Given the description of an element on the screen output the (x, y) to click on. 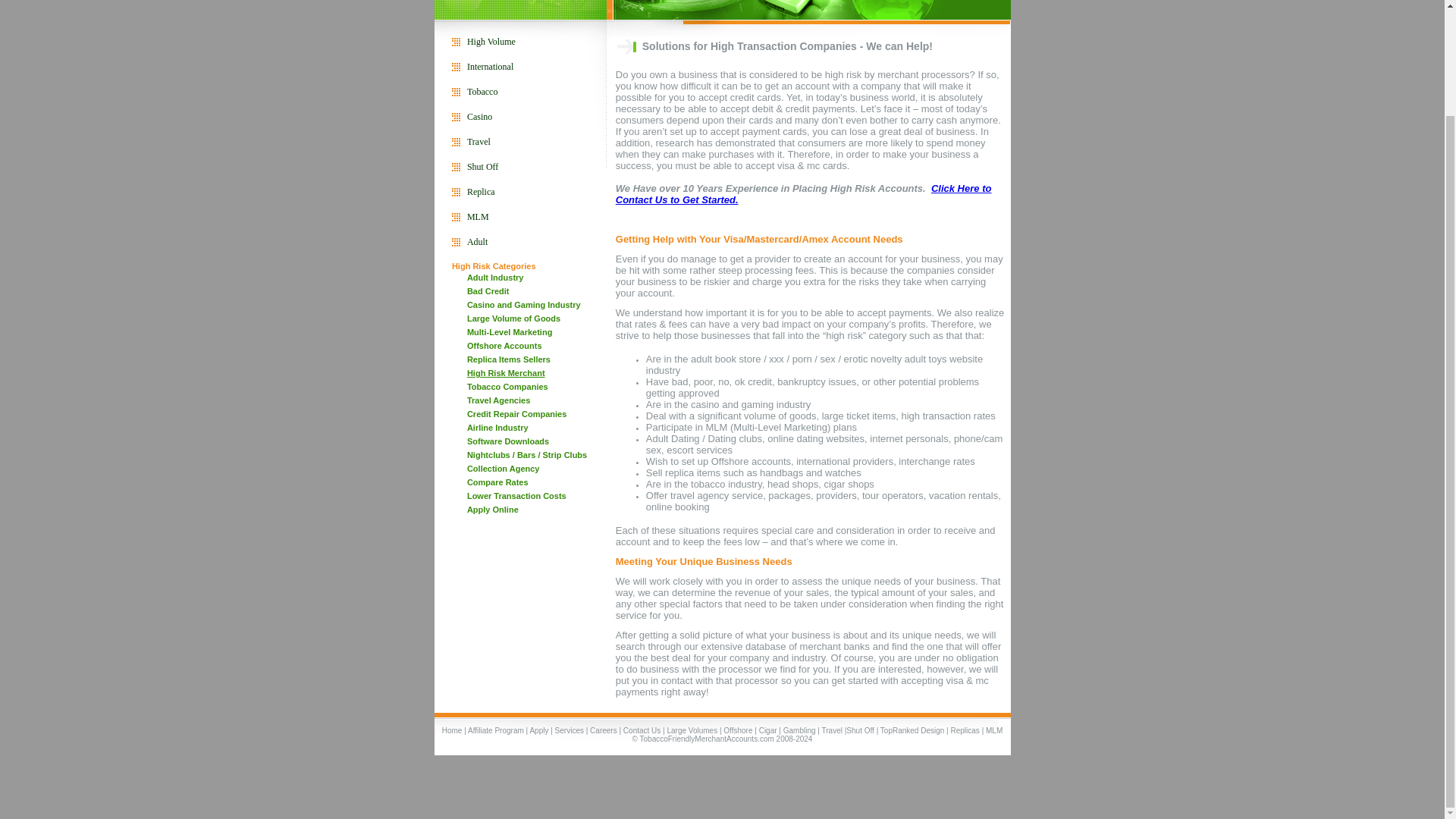
Careers (603, 730)
Replica (481, 191)
Affiliate Program (495, 730)
Large Volumes (691, 730)
MLM (994, 730)
Services (568, 730)
TobaccoFriendlyMerchantAccounts.com (707, 738)
Casino (479, 116)
High Volume (491, 41)
International (490, 66)
Click Here to Contact Us to Get Started. (803, 194)
Shut Off (860, 730)
Offshore (737, 730)
Cigar (767, 730)
Apply (539, 730)
